Given the description of an element on the screen output the (x, y) to click on. 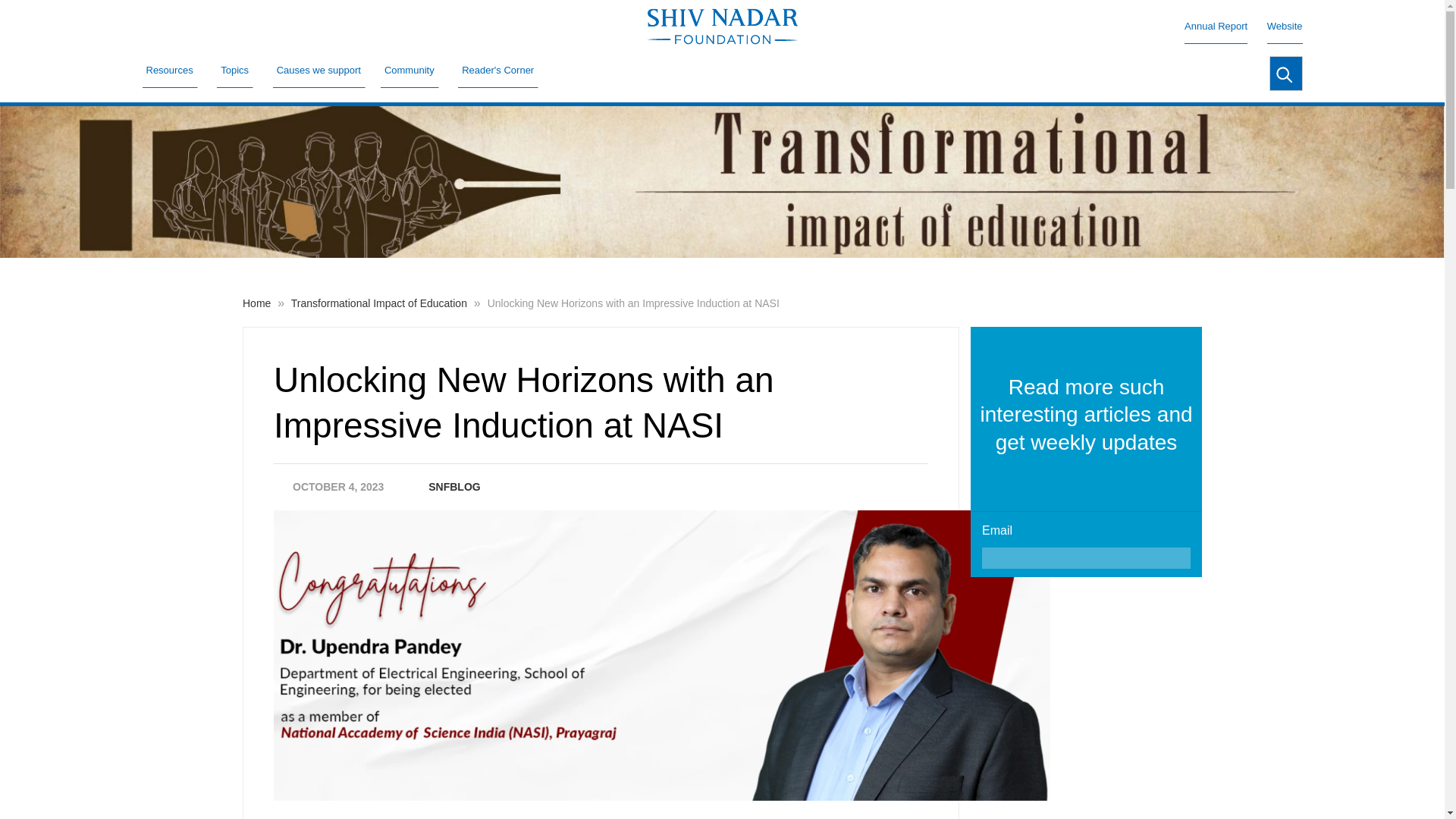
Reader's Corner (498, 70)
Resources (170, 70)
Causes we support (319, 70)
Community (409, 70)
Website (1284, 26)
Annual Report (1216, 26)
Search (1284, 73)
Topics (234, 70)
